Given the description of an element on the screen output the (x, y) to click on. 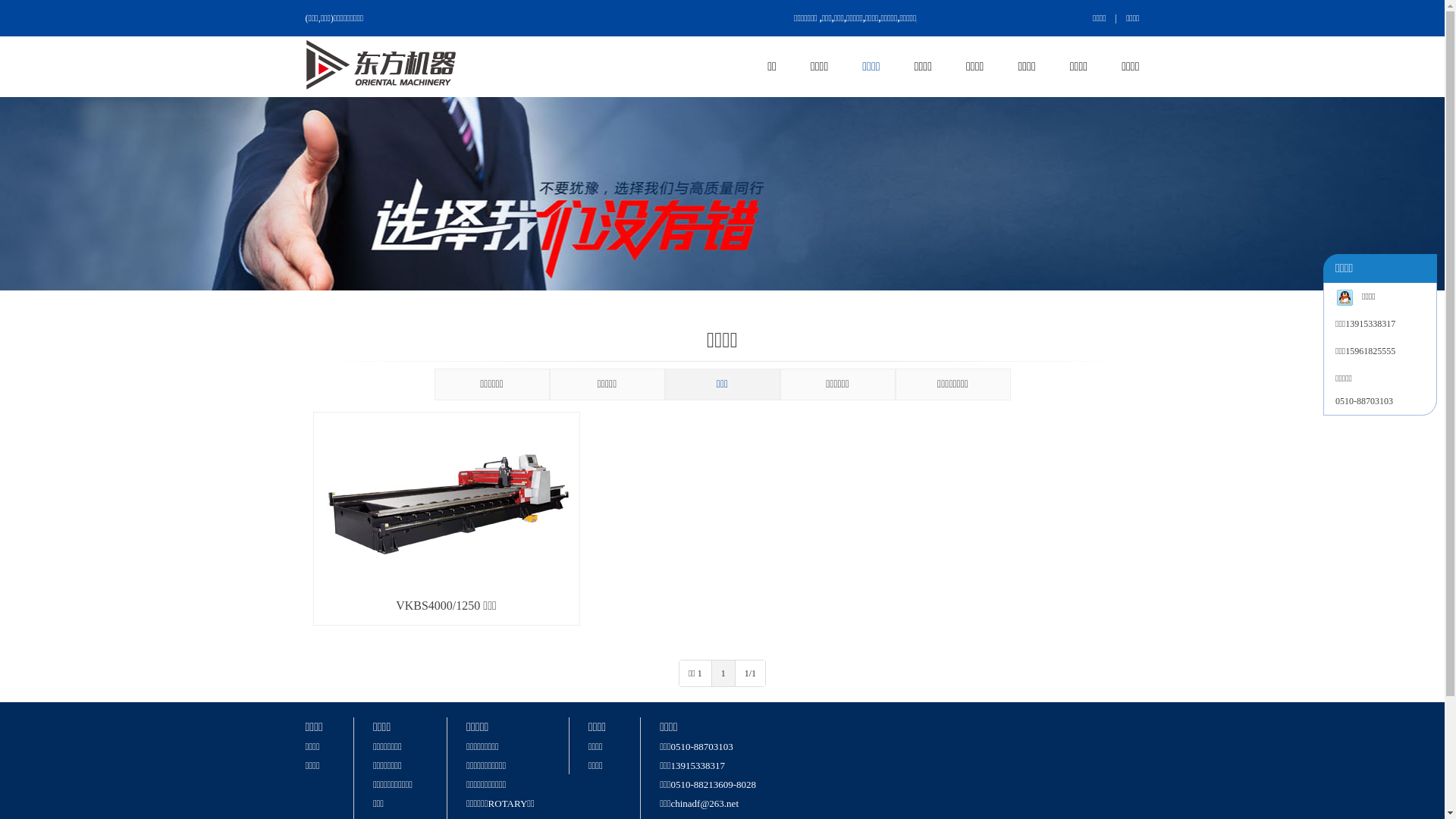
1/1 Element type: text (750, 673)
1 Element type: text (723, 673)
